Given the description of an element on the screen output the (x, y) to click on. 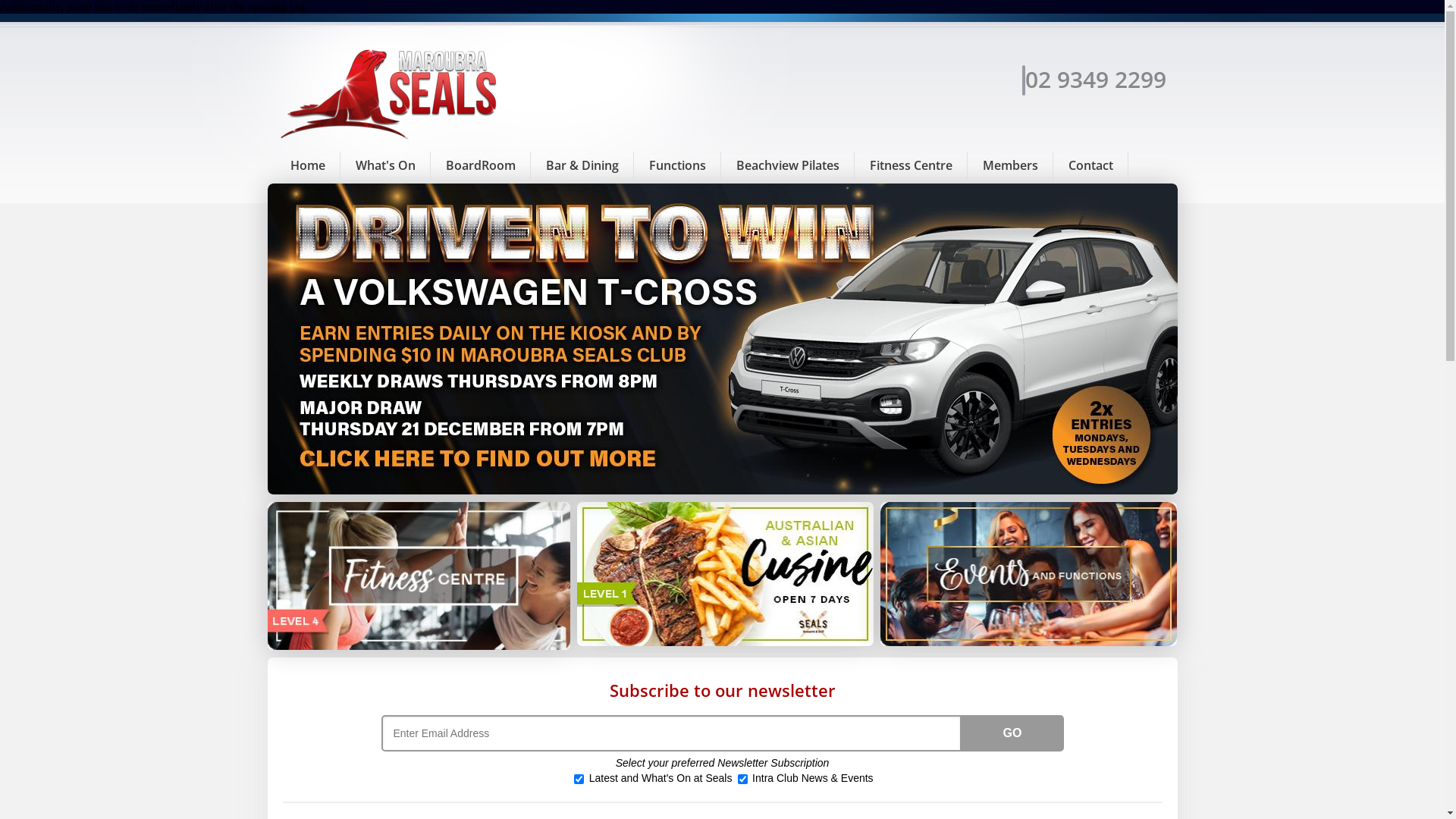
BoardRoom Element type: text (480, 165)
Members Element type: text (1010, 165)
Beachview Pilates Element type: text (786, 165)
Functions Element type: text (677, 165)
02 9349 2299 Element type: text (1094, 78)
Home Element type: text (306, 165)
GO Element type: text (1012, 733)
Bar & Dining Element type: text (581, 165)
Maroubra Seals Club Ltd Element type: hover (391, 140)
What's On Element type: text (384, 165)
Fitness Centre Element type: text (909, 165)
Contact Element type: text (1089, 165)
